Given the description of an element on the screen output the (x, y) to click on. 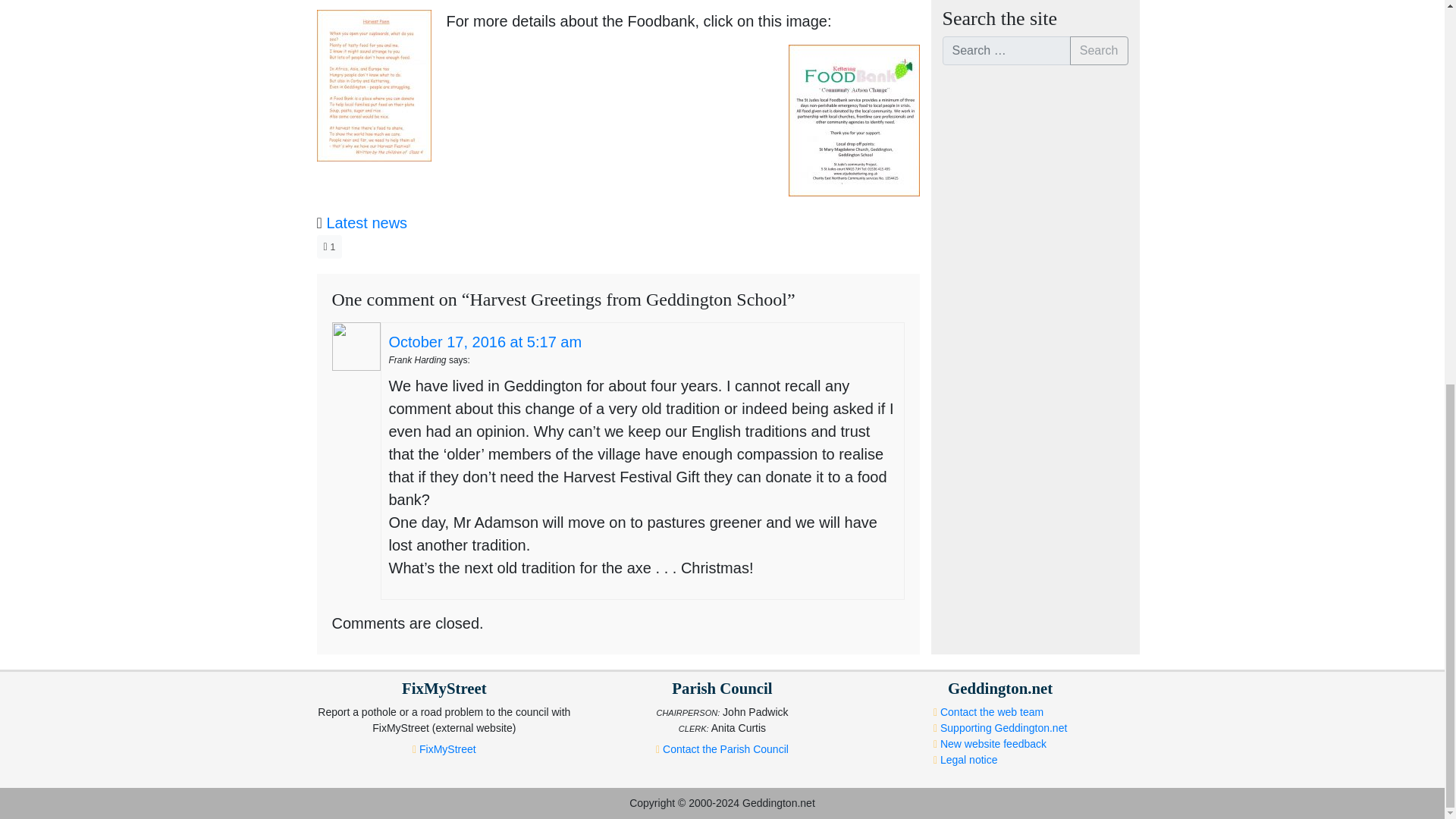
October 17, 2016 at 5:17 am (484, 341)
FixMyStreet (447, 748)
Legal notice (968, 759)
Supporting Geddington.net (1003, 727)
Contact the web team (991, 711)
1 (329, 246)
Search (1099, 50)
Latest news (366, 222)
Contact the Parish Council (725, 748)
Posted in (319, 222)
New website feedback (993, 743)
